Given the description of an element on the screen output the (x, y) to click on. 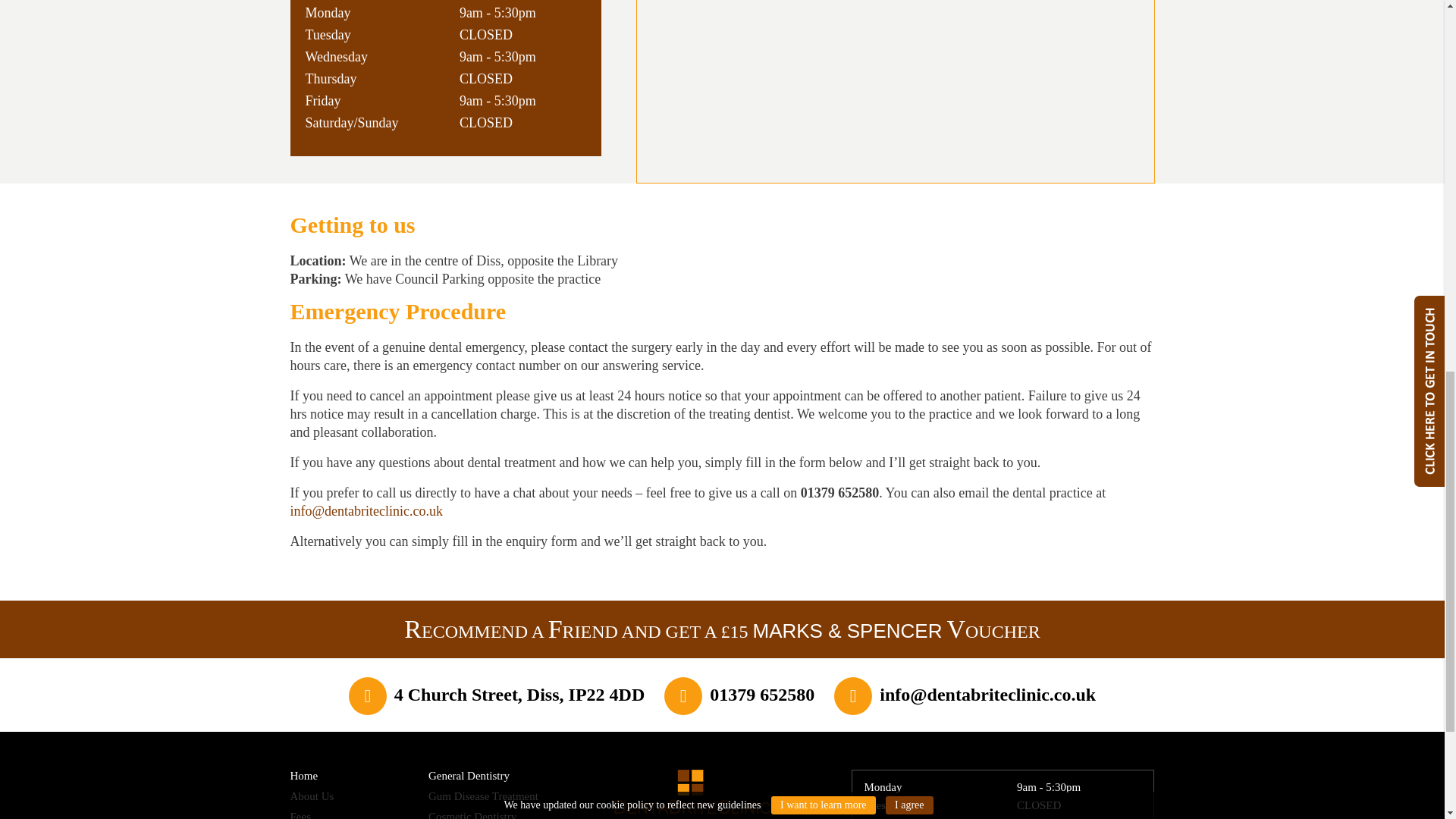
Gum Disease Treatment (483, 796)
Home (303, 775)
Phone (761, 694)
Cosmetic Dentistry (472, 814)
Fees (300, 814)
Mail (987, 694)
General Dentistry (468, 775)
01379 652580 (761, 694)
About Us (311, 796)
